Given the description of an element on the screen output the (x, y) to click on. 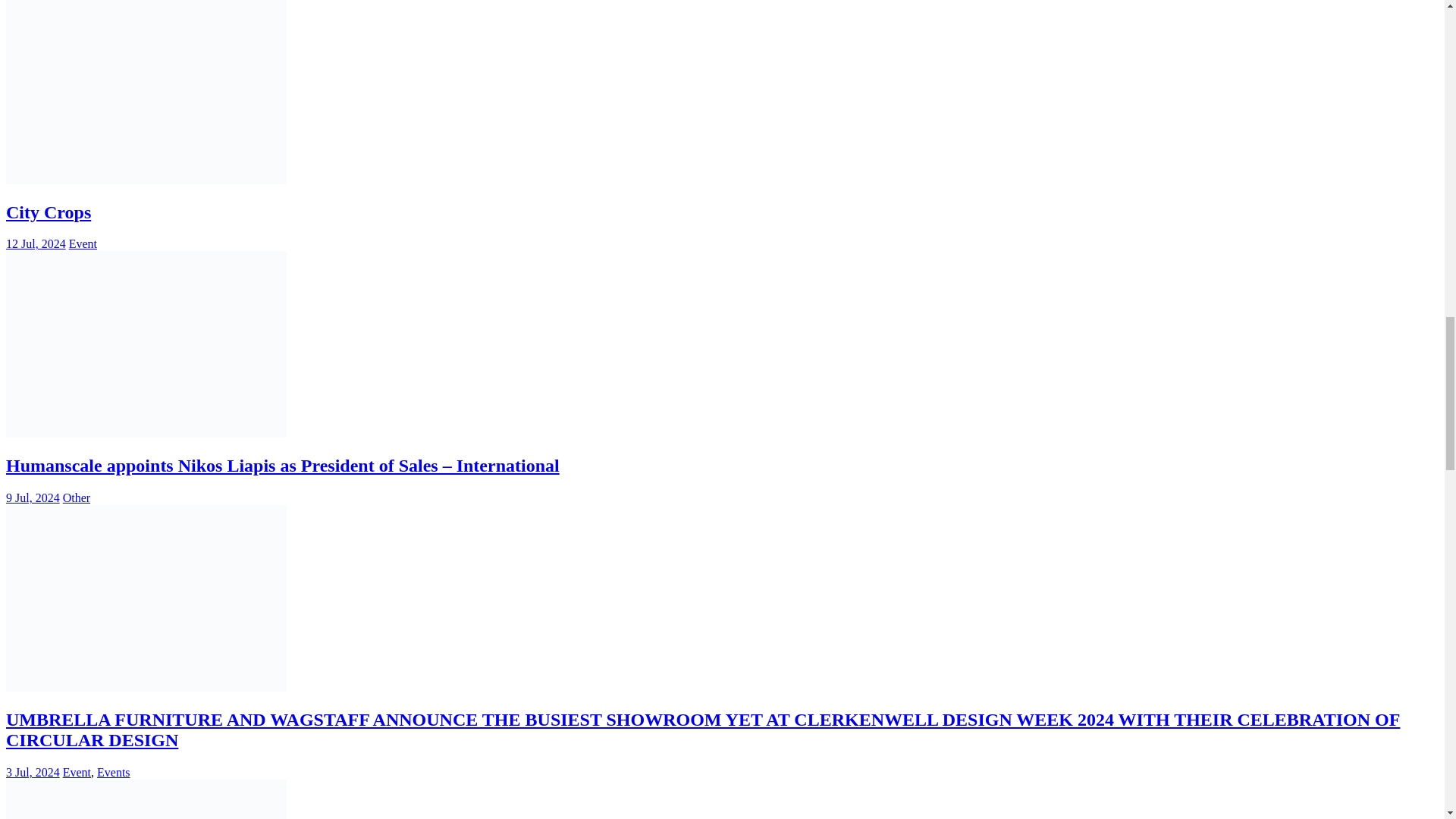
City Crops (47, 211)
Event (82, 243)
12 Jul, 2024 (35, 243)
